Given the description of an element on the screen output the (x, y) to click on. 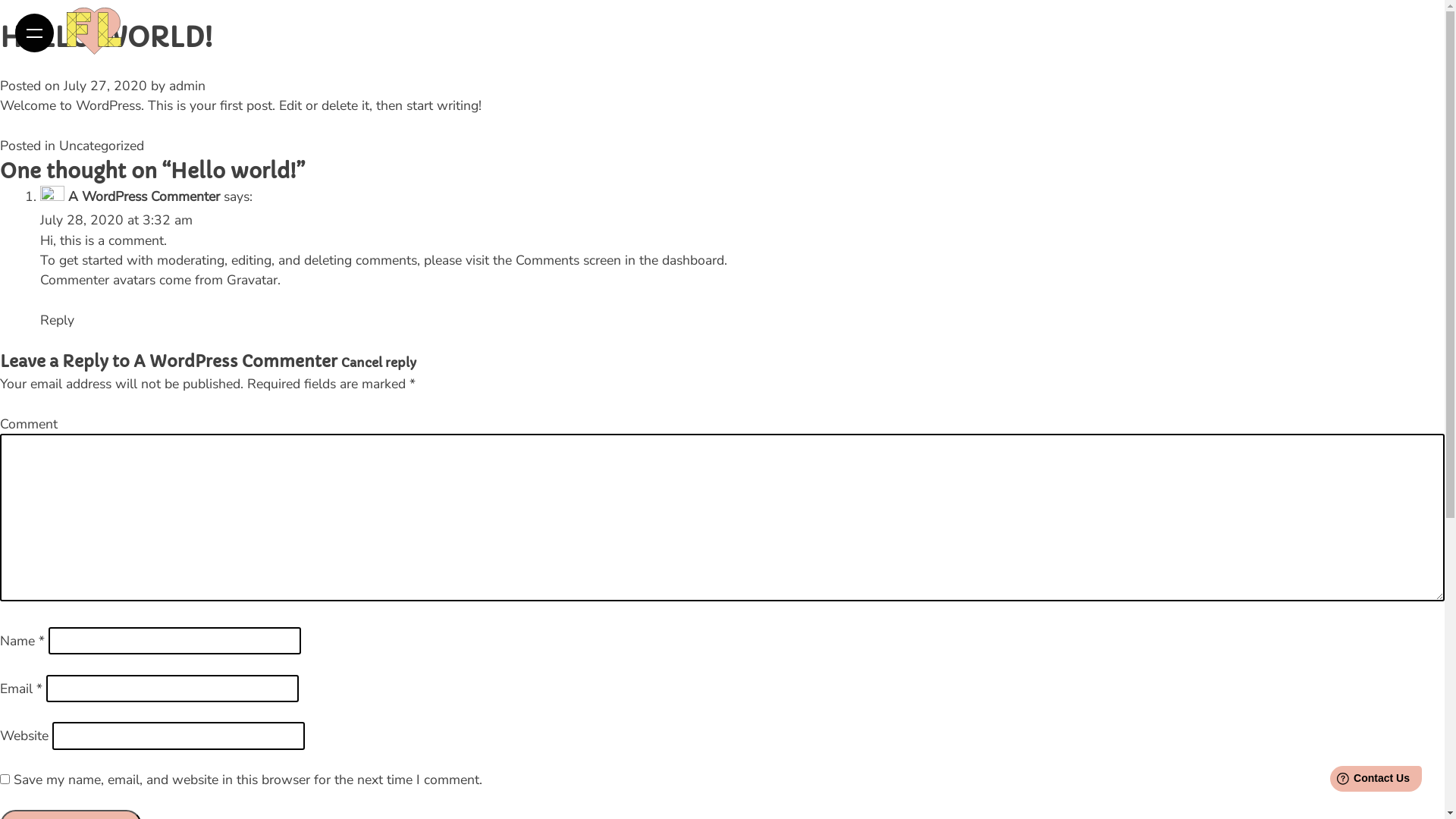
FL-HEART-HERO-LOGO | Fish & Lemonade Element type: hover (93, 30)
A WordPress Commenter Element type: text (143, 196)
Gravatar Element type: text (251, 279)
July 28, 2020 at 3:32 am Element type: text (116, 219)
Uncategorized Element type: text (101, 145)
admin Element type: text (187, 85)
A WordPress Commenter Element type: text (235, 361)
Cancel reply Element type: text (378, 362)
Reply Element type: text (57, 319)
July 27, 2020 Element type: text (105, 85)
Fish & Lemonade Element type: text (97, 80)
